Given the description of an element on the screen output the (x, y) to click on. 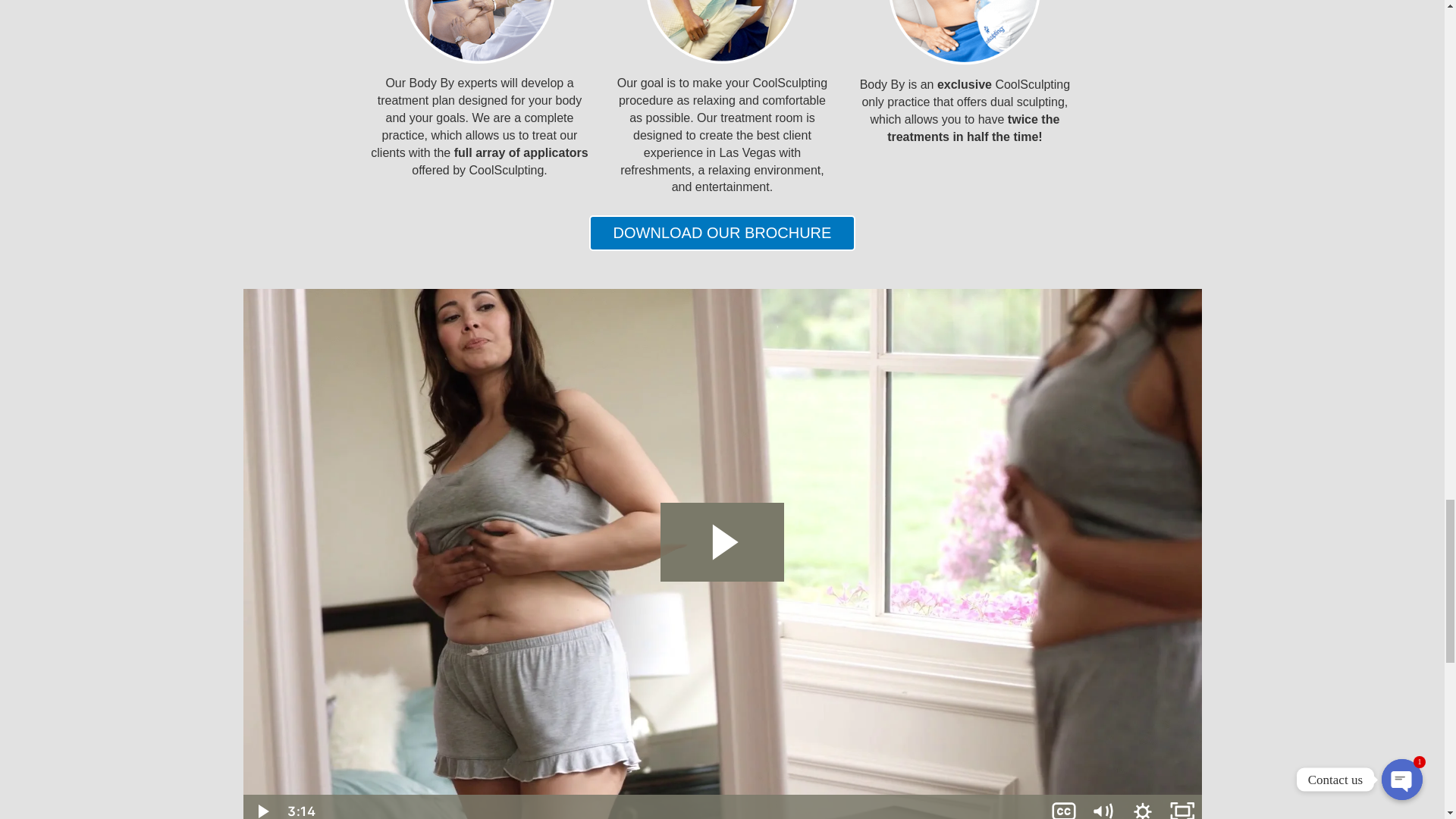
Body by Cool Sculpting Brochure (722, 232)
Show settings menu (1141, 806)
